Given the description of an element on the screen output the (x, y) to click on. 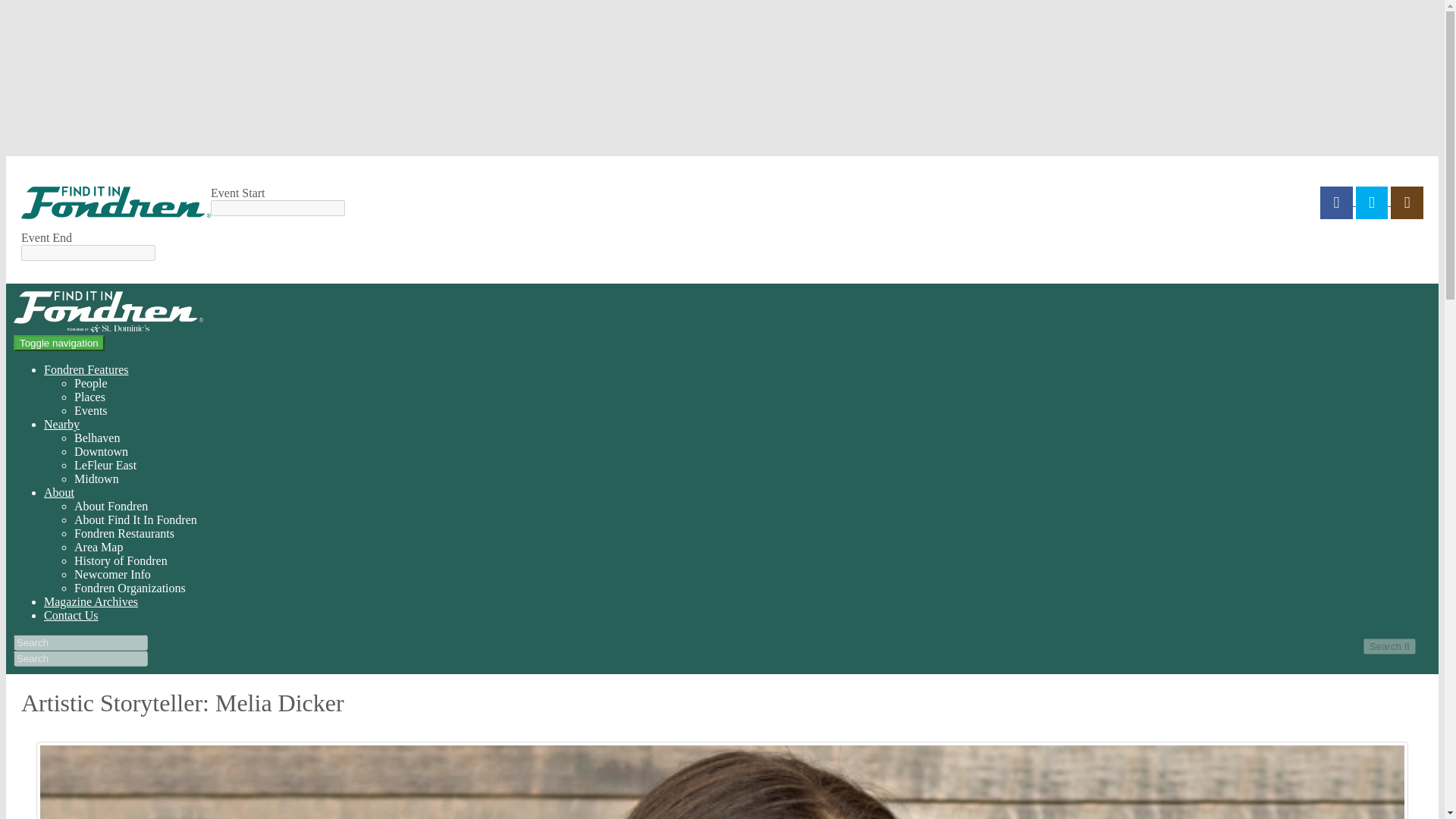
Contact Us (71, 615)
Fondren Organizations (130, 587)
People (90, 382)
History of Fondren (120, 560)
About (58, 492)
Downtown (101, 451)
Places (89, 396)
Twitter (1373, 201)
Fondren Features (86, 369)
LeFleur East (105, 464)
Toggle navigation (58, 342)
Belhaven (96, 437)
Magazine Archives (90, 601)
Instagram (1406, 201)
Search (1388, 646)
